Given the description of an element on the screen output the (x, y) to click on. 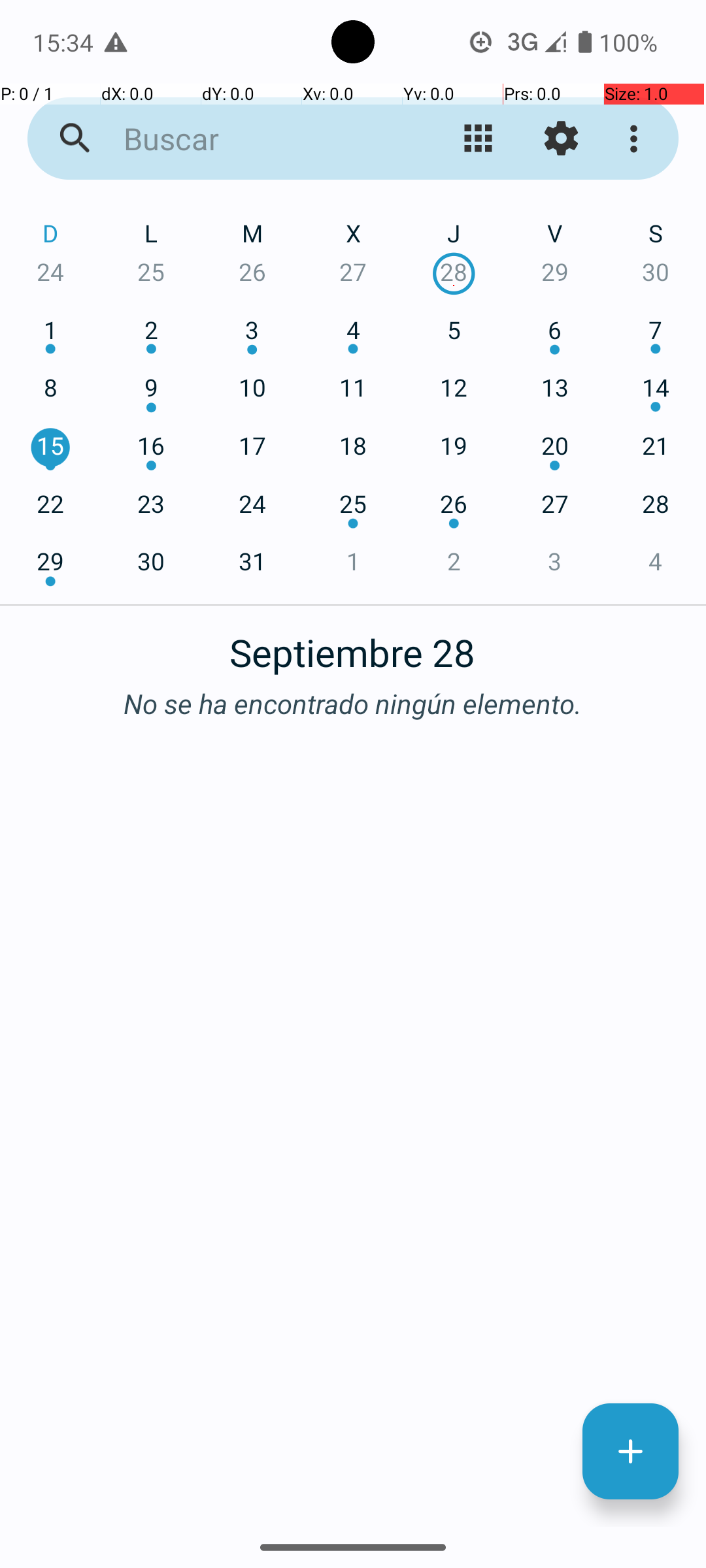
Septiembre 28 Element type: android.widget.TextView (352, 644)
